Given the description of an element on the screen output the (x, y) to click on. 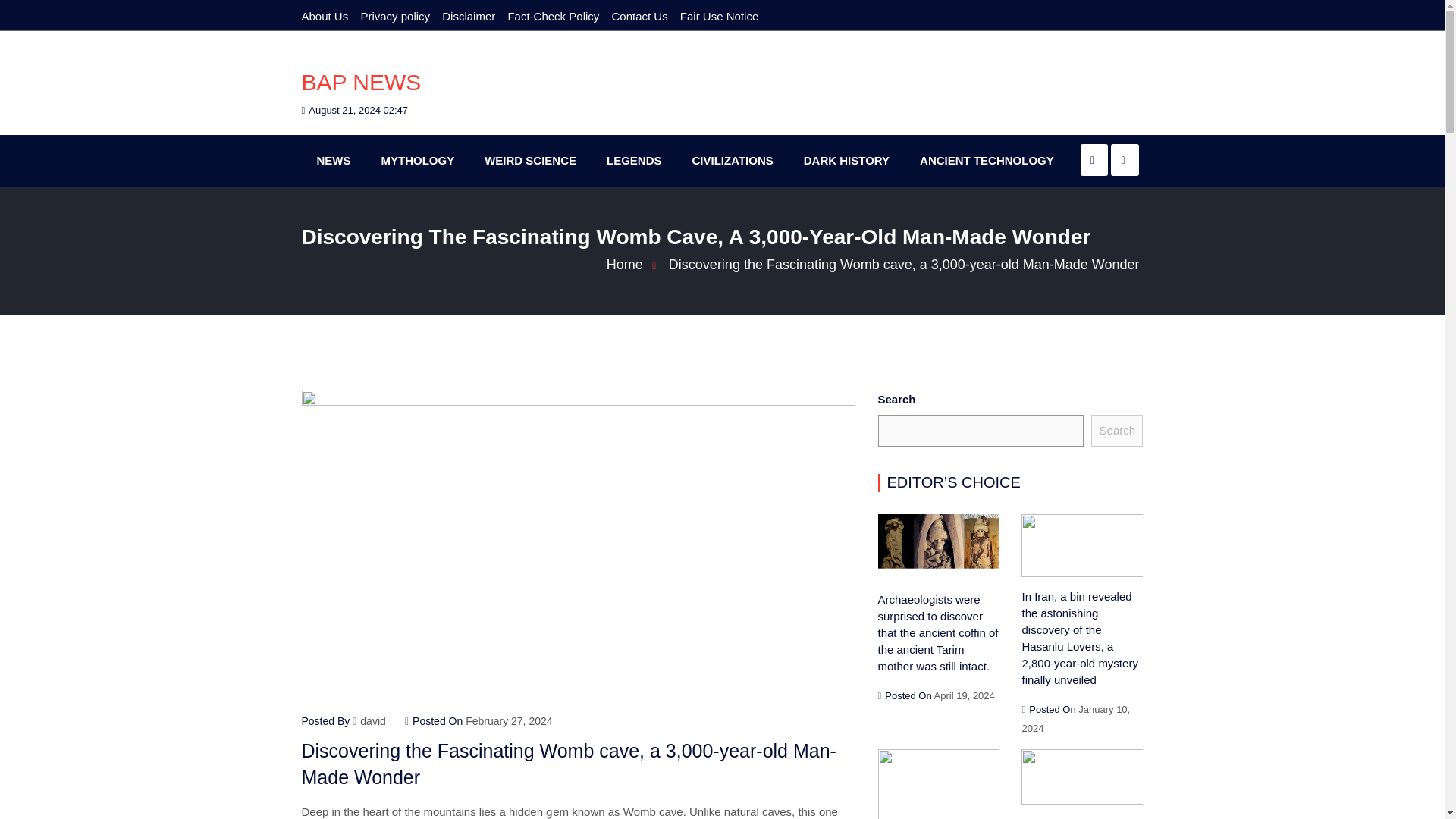
LEGENDS (634, 160)
WEIRD SCIENCE (529, 160)
LEGENDS (634, 160)
Fact-Check Policy (552, 15)
ANCIENT TECHNOLOGY (986, 160)
ANCIENT TECHNOLOGY (986, 160)
Privacy policy (394, 15)
DARK HISTORY (846, 160)
Disclaimer (468, 15)
